Given the description of an element on the screen output the (x, y) to click on. 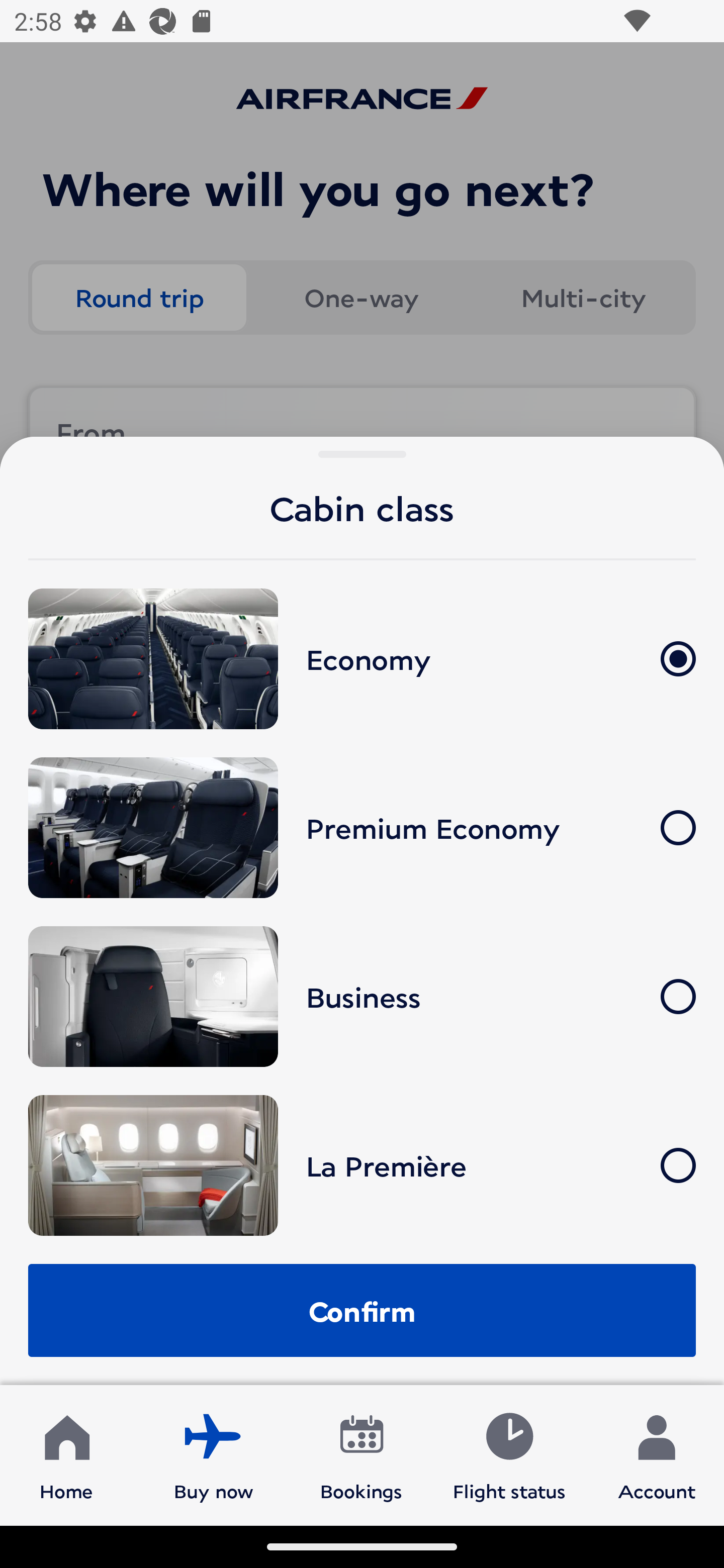
Economy (361, 658)
Premium Economy (361, 827)
Business (361, 996)
La Première (361, 1164)
Confirm (361, 1309)
Home (66, 1454)
Bookings (361, 1454)
Flight status (509, 1454)
Account (657, 1454)
